Given the description of an element on the screen output the (x, y) to click on. 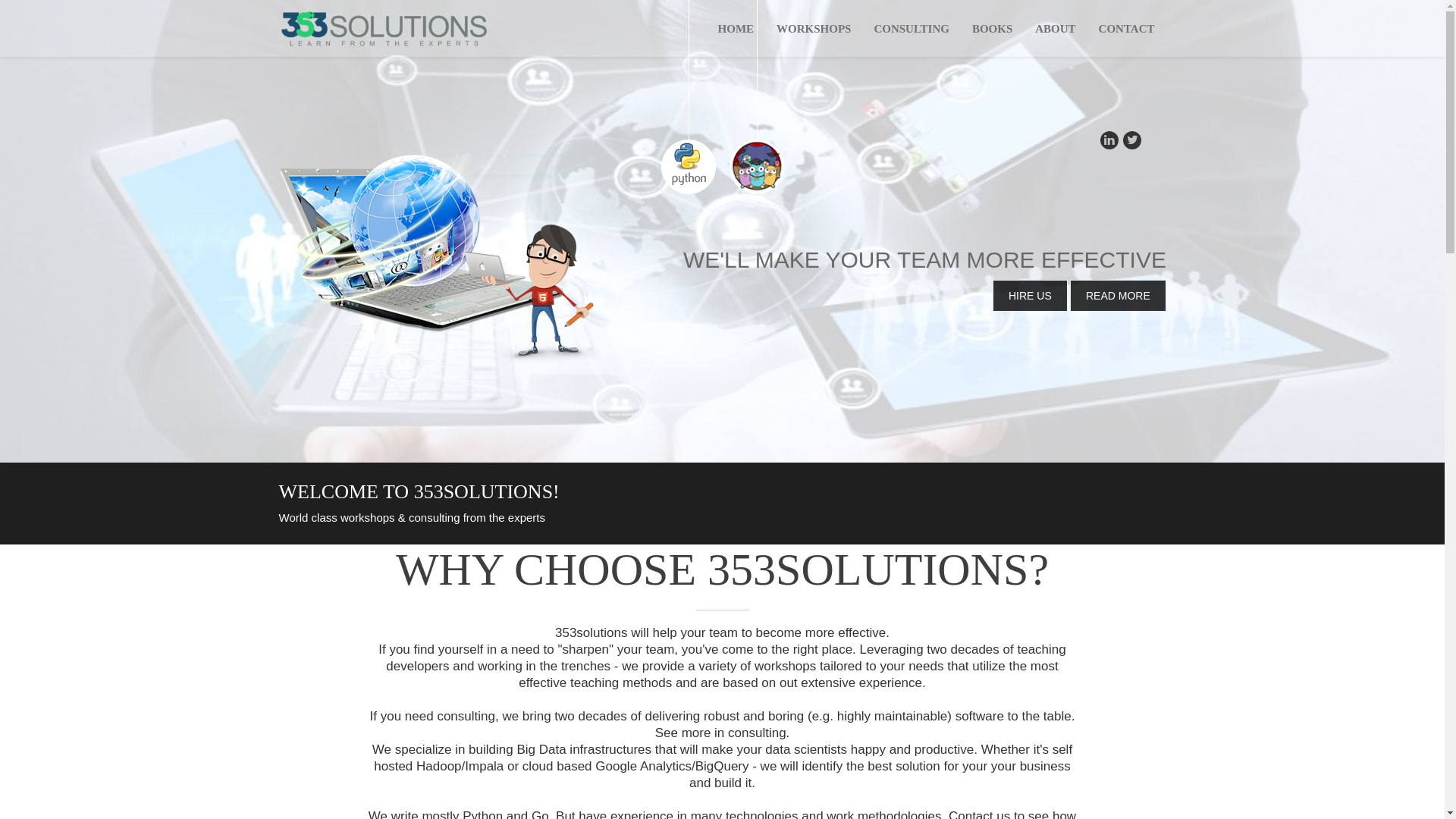
WORKSHOPS Element type: text (813, 28)
HOME Element type: text (735, 28)
HIRE US Element type: text (1029, 295)
READ MORE Element type: text (1117, 295)
BOOKS Element type: text (991, 28)
ABOUT Element type: text (1054, 28)
CONTACT Element type: text (1126, 28)
CONSULTING Element type: text (911, 28)
